Given the description of an element on the screen output the (x, y) to click on. 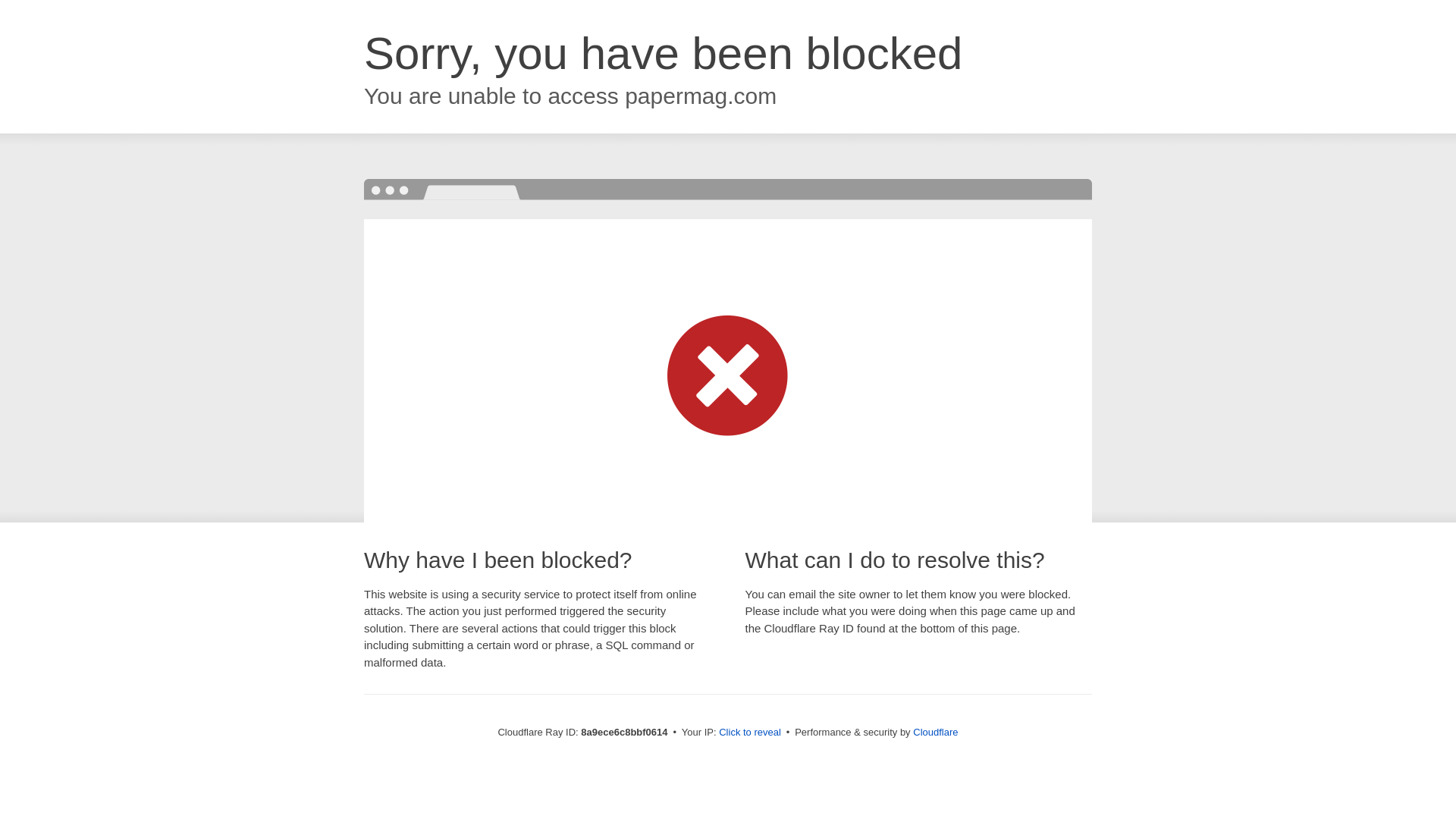
Cloudflare (935, 731)
Click to reveal (749, 732)
